Given the description of an element on the screen output the (x, y) to click on. 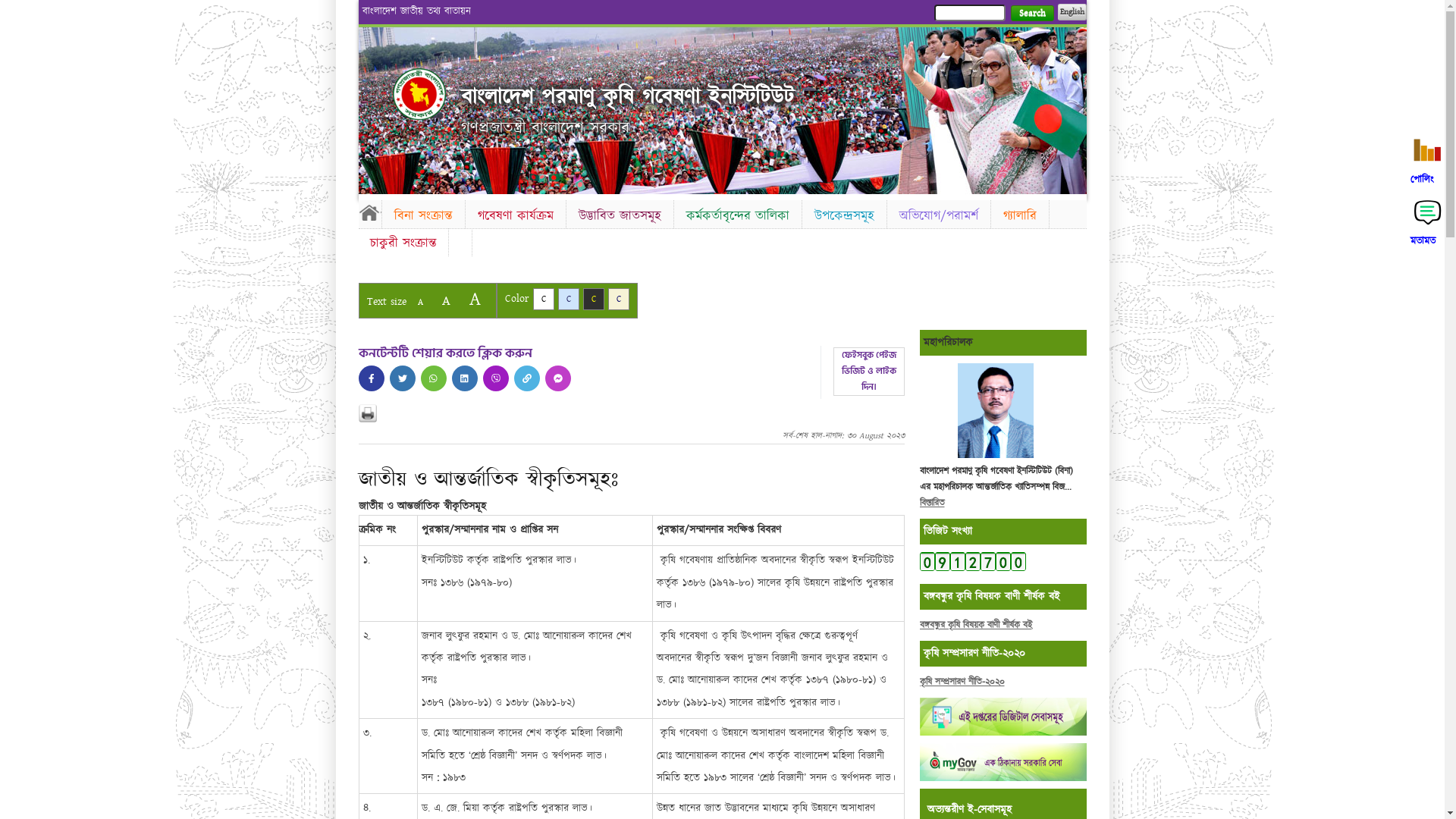
A Element type: text (419, 301)
Search Element type: text (1031, 13)
Home Element type: hover (368, 211)
C Element type: text (592, 299)
Home Element type: hover (418, 93)
English Element type: text (1071, 11)
A Element type: text (445, 300)
C Element type: text (618, 299)
C Element type: text (542, 299)
C Element type: text (568, 299)
A Element type: text (474, 298)
